Given the description of an element on the screen output the (x, y) to click on. 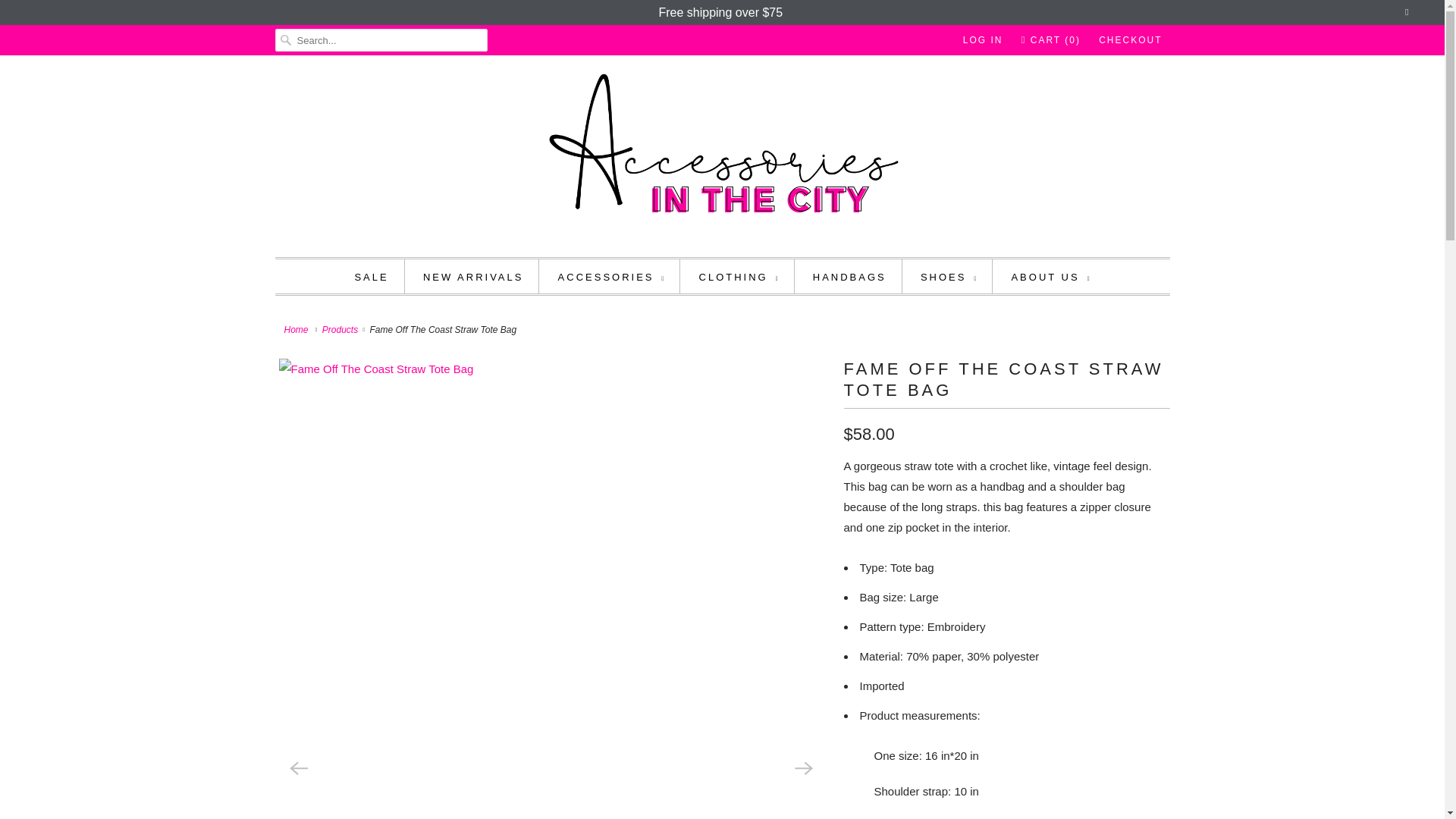
CHECKOUT (1130, 39)
Products (339, 329)
LOG IN (982, 39)
Accessories in the City (296, 329)
